Given the description of an element on the screen output the (x, y) to click on. 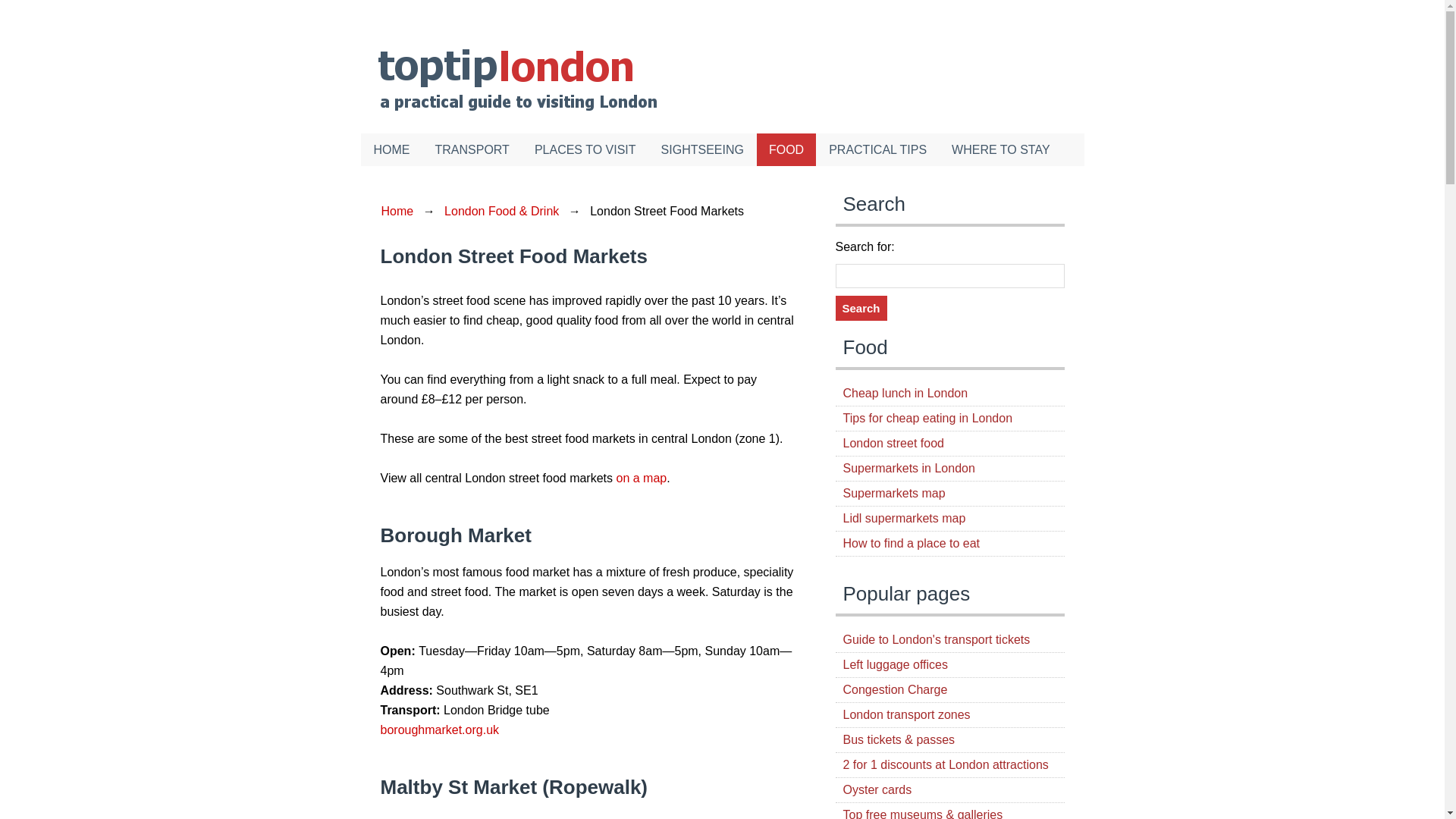
London street food (893, 442)
London transport zones (907, 714)
PRACTICAL TIPS (877, 149)
TRANSPORT (472, 149)
boroughmarket.org.uk (439, 729)
WHERE TO STAY (1000, 149)
Oyster cards (877, 789)
How to find a place to eat (911, 543)
Congestion Charge (895, 689)
Search (860, 308)
Guide to London's transport tickets (936, 639)
Tips for cheap eating in London (928, 418)
Lidl supermarkets map (904, 517)
SIGHTSEEING (703, 149)
FOOD (786, 149)
